Given the description of an element on the screen output the (x, y) to click on. 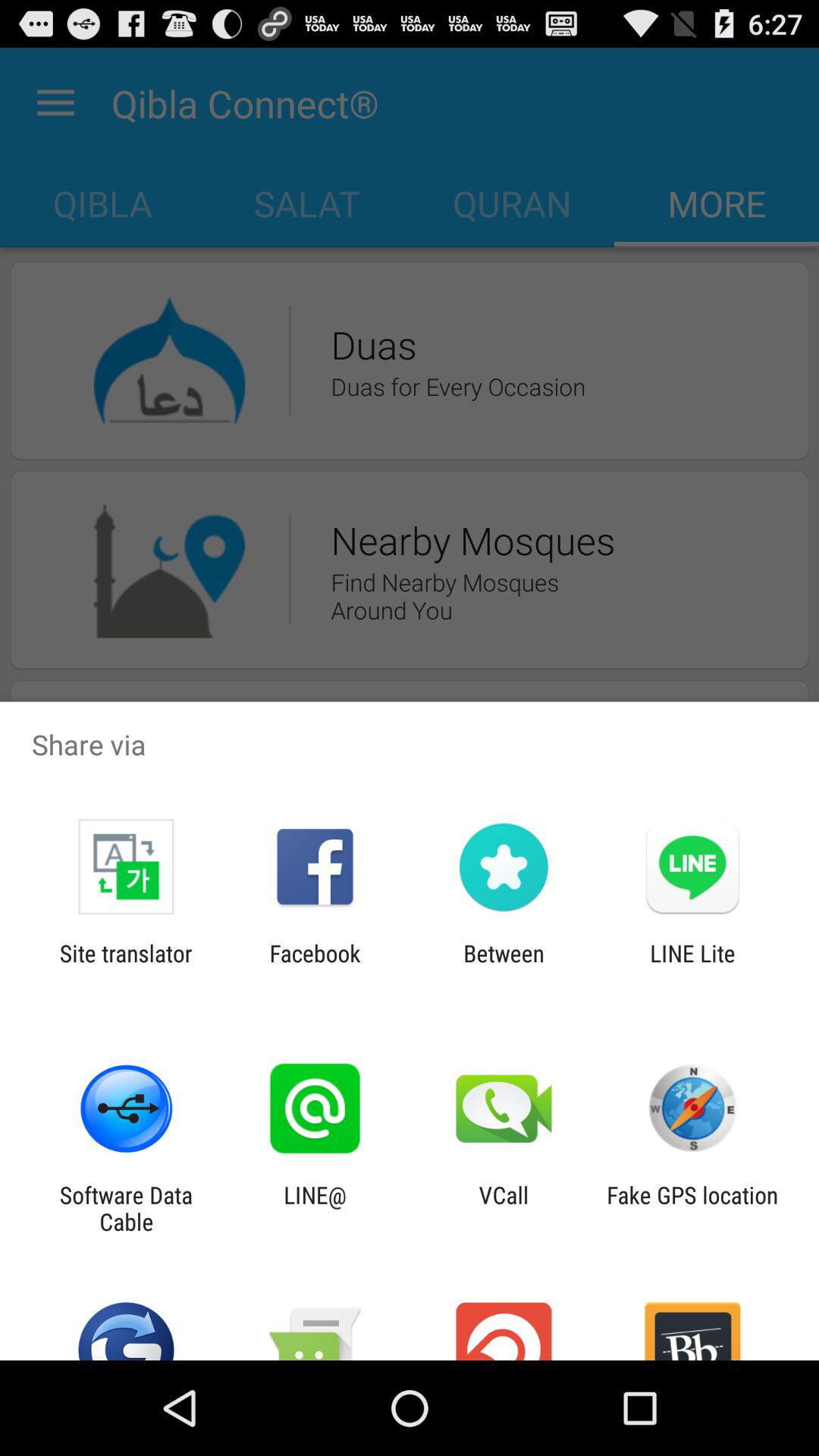
jump to fake gps location (692, 1208)
